Given the description of an element on the screen output the (x, y) to click on. 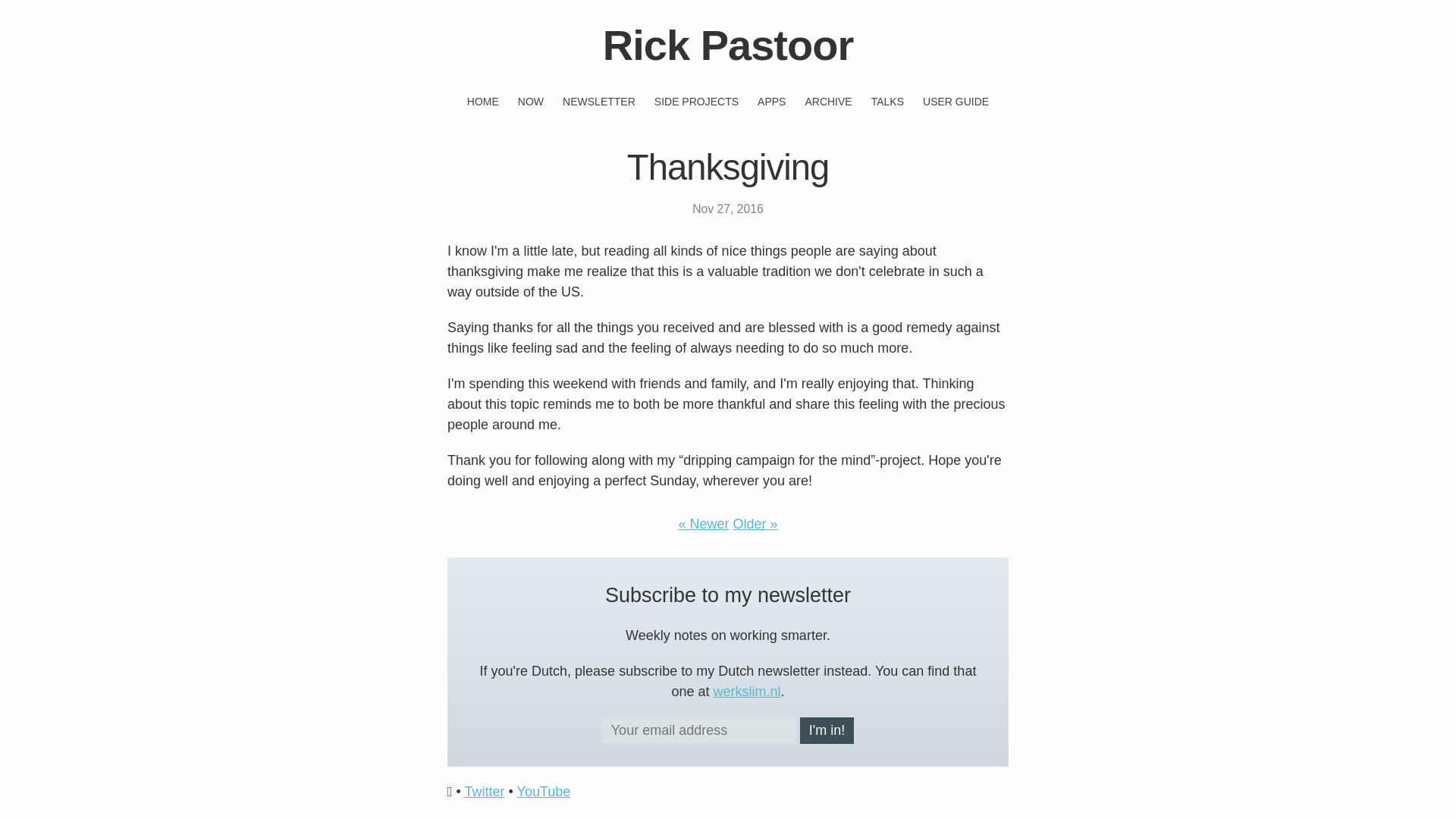
NEWSLETTER (598, 101)
APPS (771, 101)
Rick Pastoor (727, 44)
YouTube (543, 791)
Twitter (484, 791)
HOME (483, 101)
USER GUIDE (955, 101)
SIDE PROJECTS (695, 101)
I'm in! (826, 730)
ARCHIVE (828, 101)
